Given the description of an element on the screen output the (x, y) to click on. 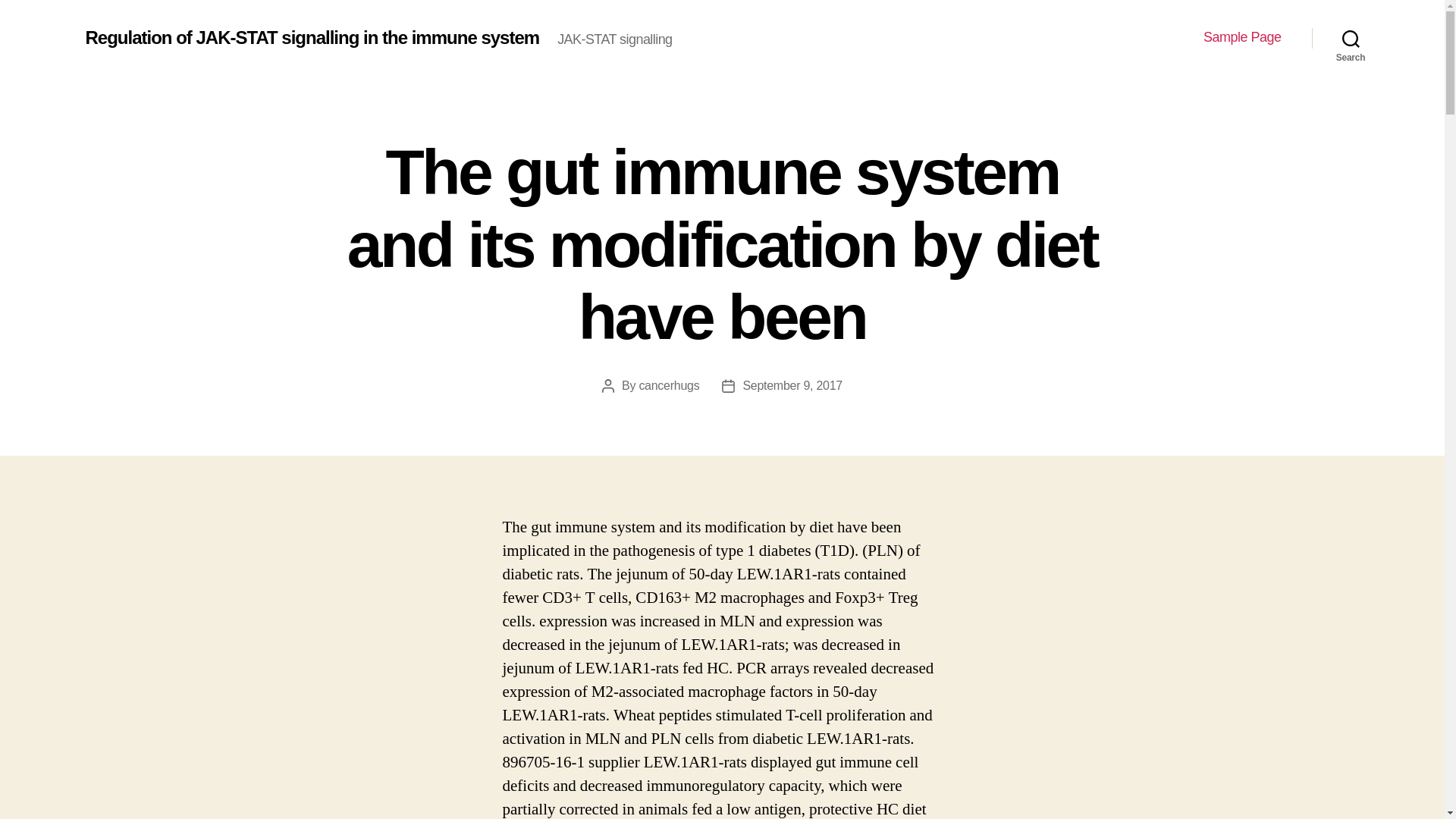
cancerhugs (668, 385)
Search (1350, 37)
Regulation of JAK-STAT signalling in the immune system (311, 37)
Sample Page (1242, 37)
September 9, 2017 (792, 385)
